Given the description of an element on the screen output the (x, y) to click on. 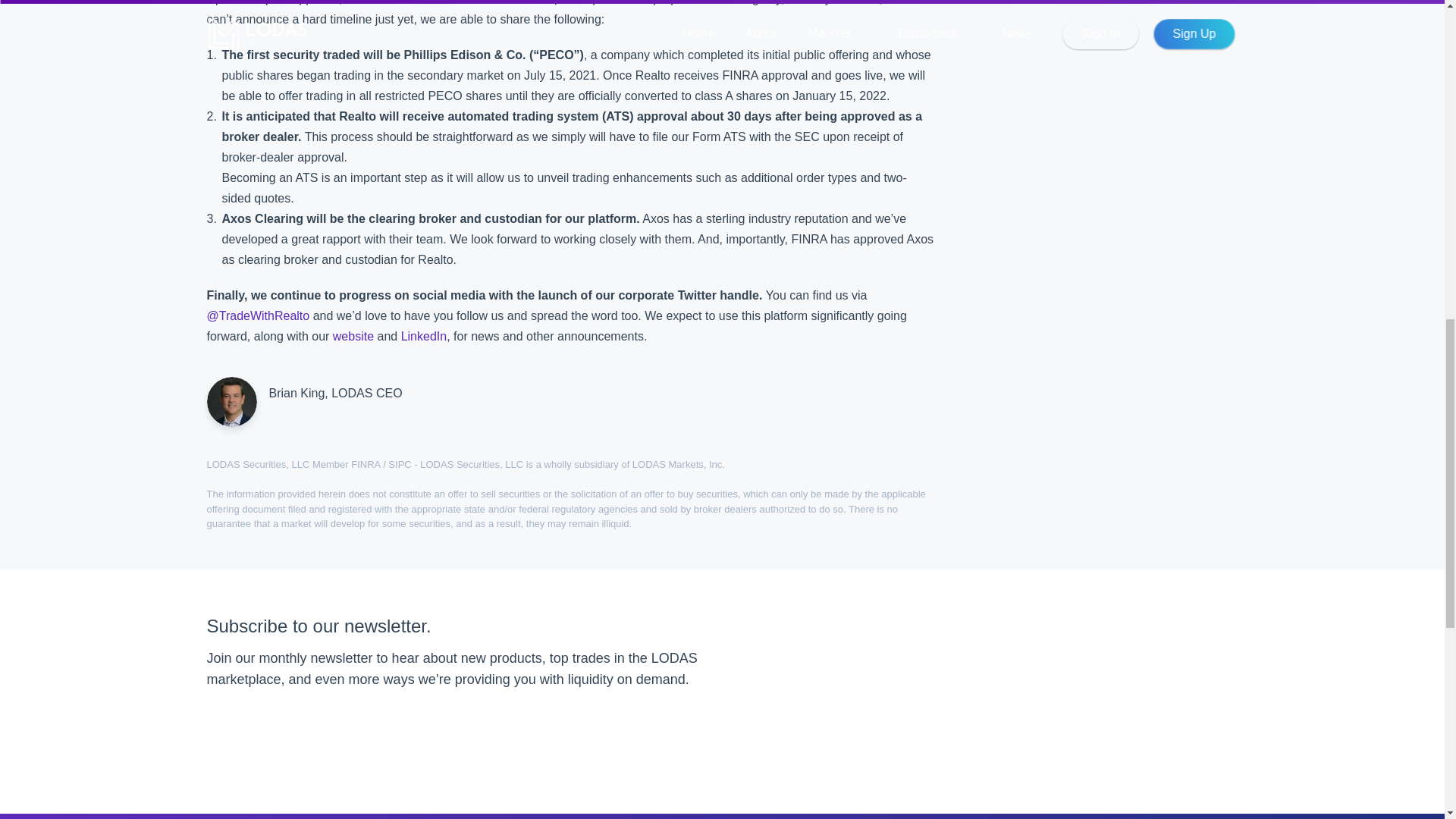
website (353, 336)
LinkedIn (423, 336)
